Given the description of an element on the screen output the (x, y) to click on. 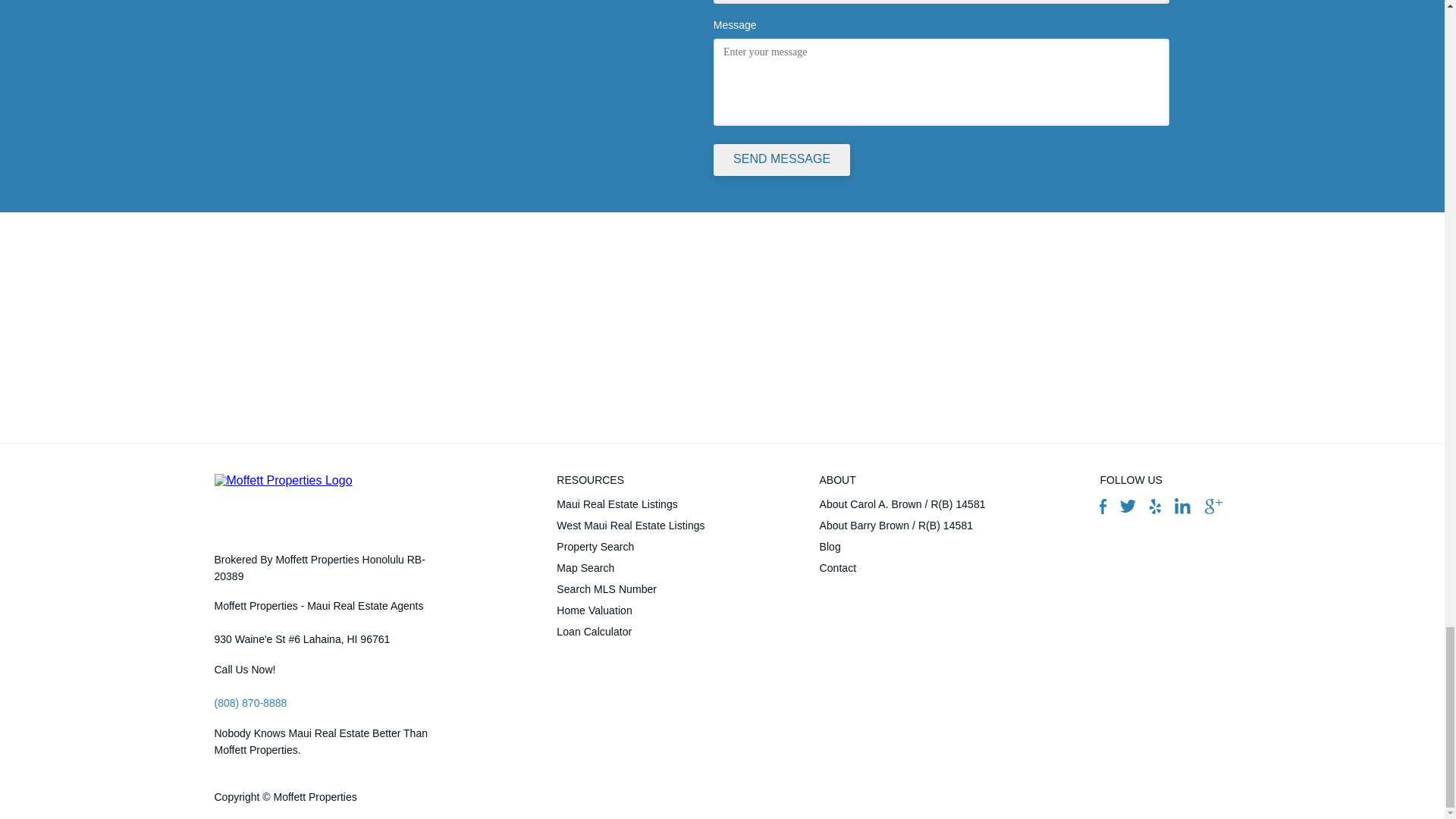
send message (781, 160)
Maui Real Estate Listings (630, 504)
West Maui Real Estate Listings (630, 525)
Search MLS Number (630, 588)
send message (781, 160)
Map Search (630, 567)
Property Search (630, 546)
Loan Calculator (630, 631)
Home Valuation (630, 609)
